Given the description of an element on the screen output the (x, y) to click on. 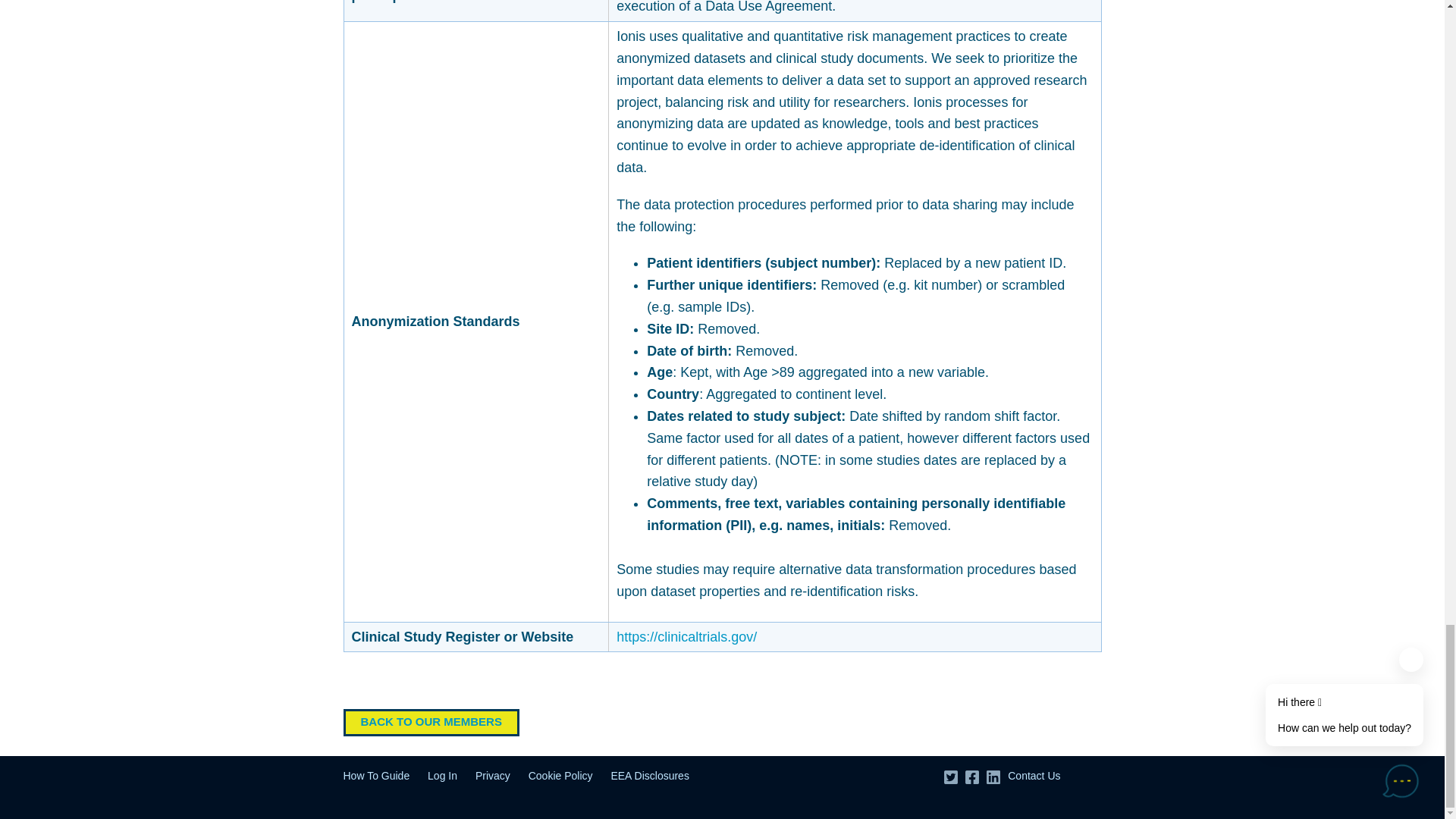
BACK TO OUR MEMBERS (430, 722)
How To Guide (375, 775)
